Given the description of an element on the screen output the (x, y) to click on. 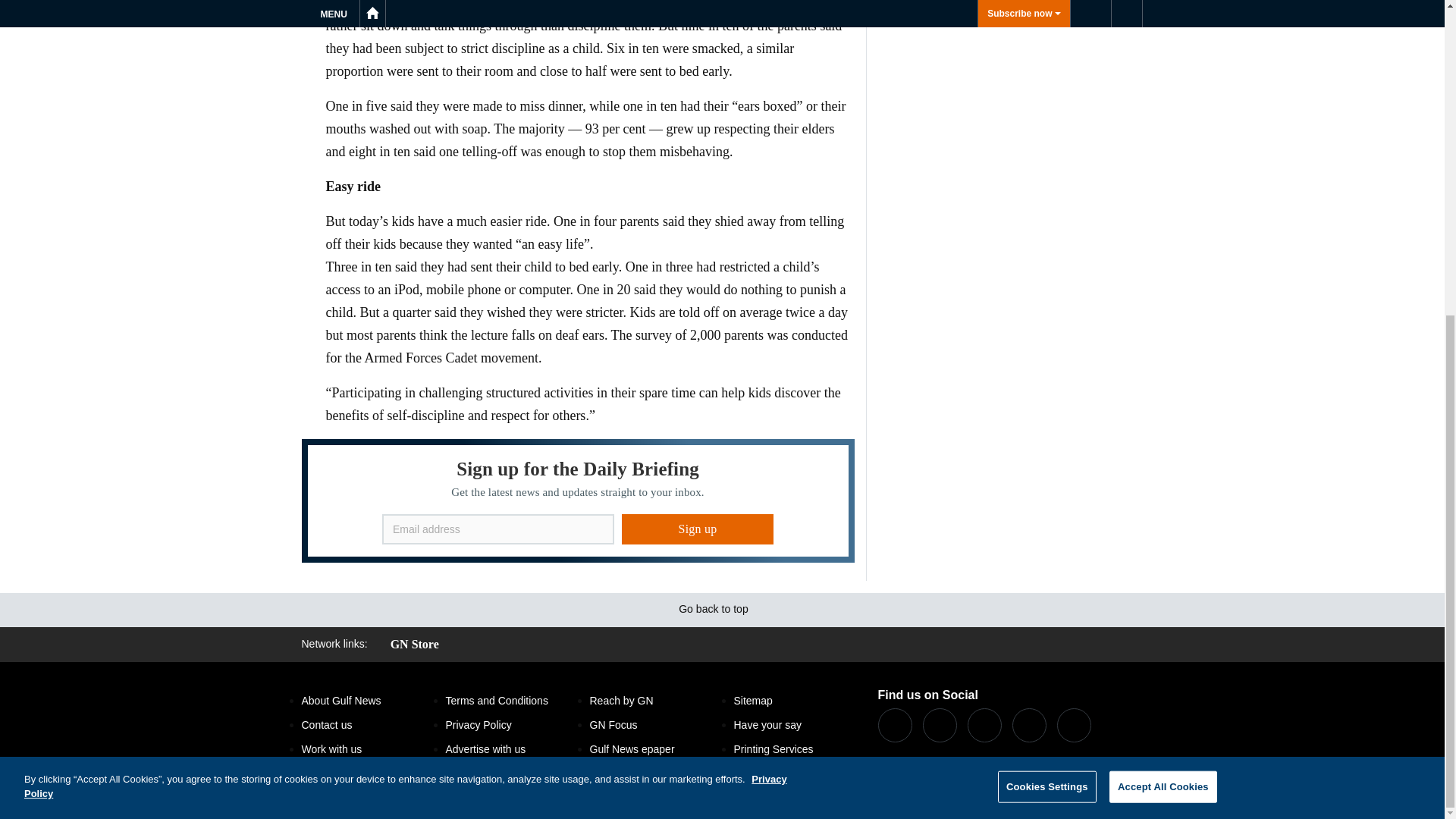
Sign up for the Daily Briefing (577, 500)
